Given the description of an element on the screen output the (x, y) to click on. 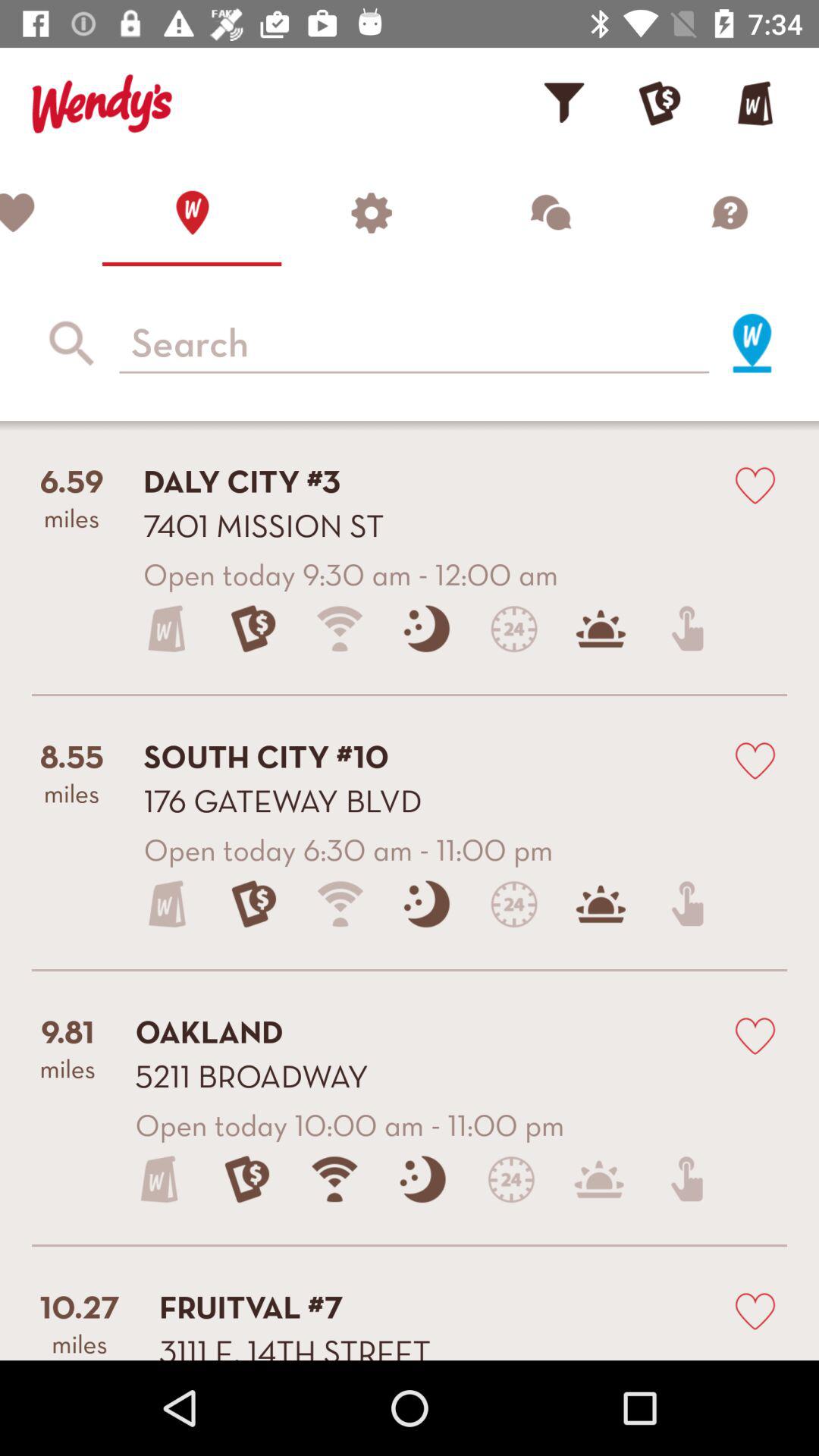
toggle favorite (755, 1310)
